Given the description of an element on the screen output the (x, y) to click on. 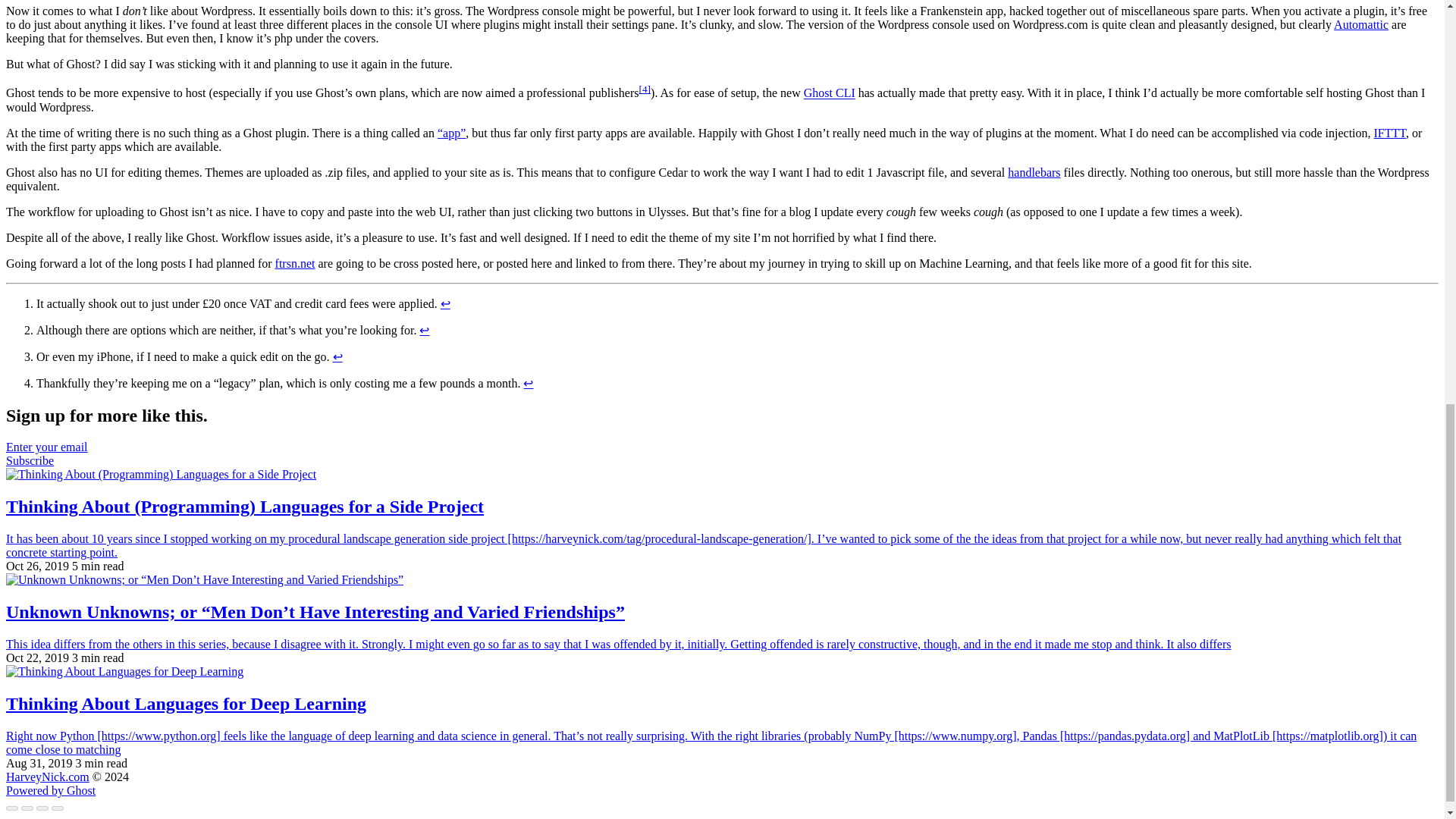
handlebars (1033, 172)
ftrsn.net (295, 263)
Automattic (1361, 24)
Toggle fullscreen (42, 807)
IFTTT (1390, 132)
Share (27, 807)
Ghost CLI (829, 92)
